Given the description of an element on the screen output the (x, y) to click on. 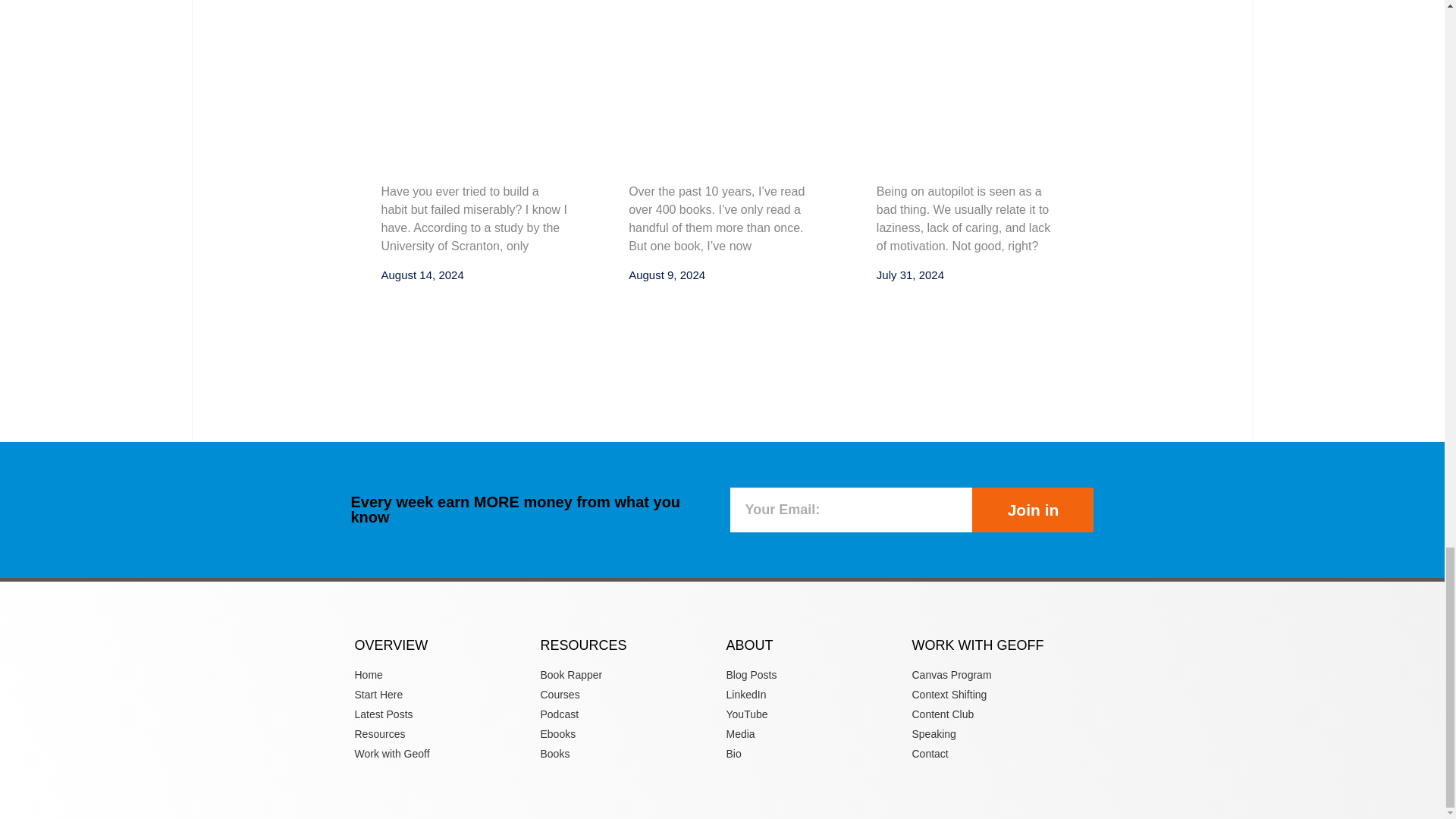
Book Rapper (628, 675)
Books (628, 754)
Work with Geoff (443, 754)
Start Here (443, 694)
Latest Posts (443, 714)
Podcast (628, 714)
Resources (443, 734)
Home (443, 675)
Ebooks (628, 734)
Courses (628, 694)
